Given the description of an element on the screen output the (x, y) to click on. 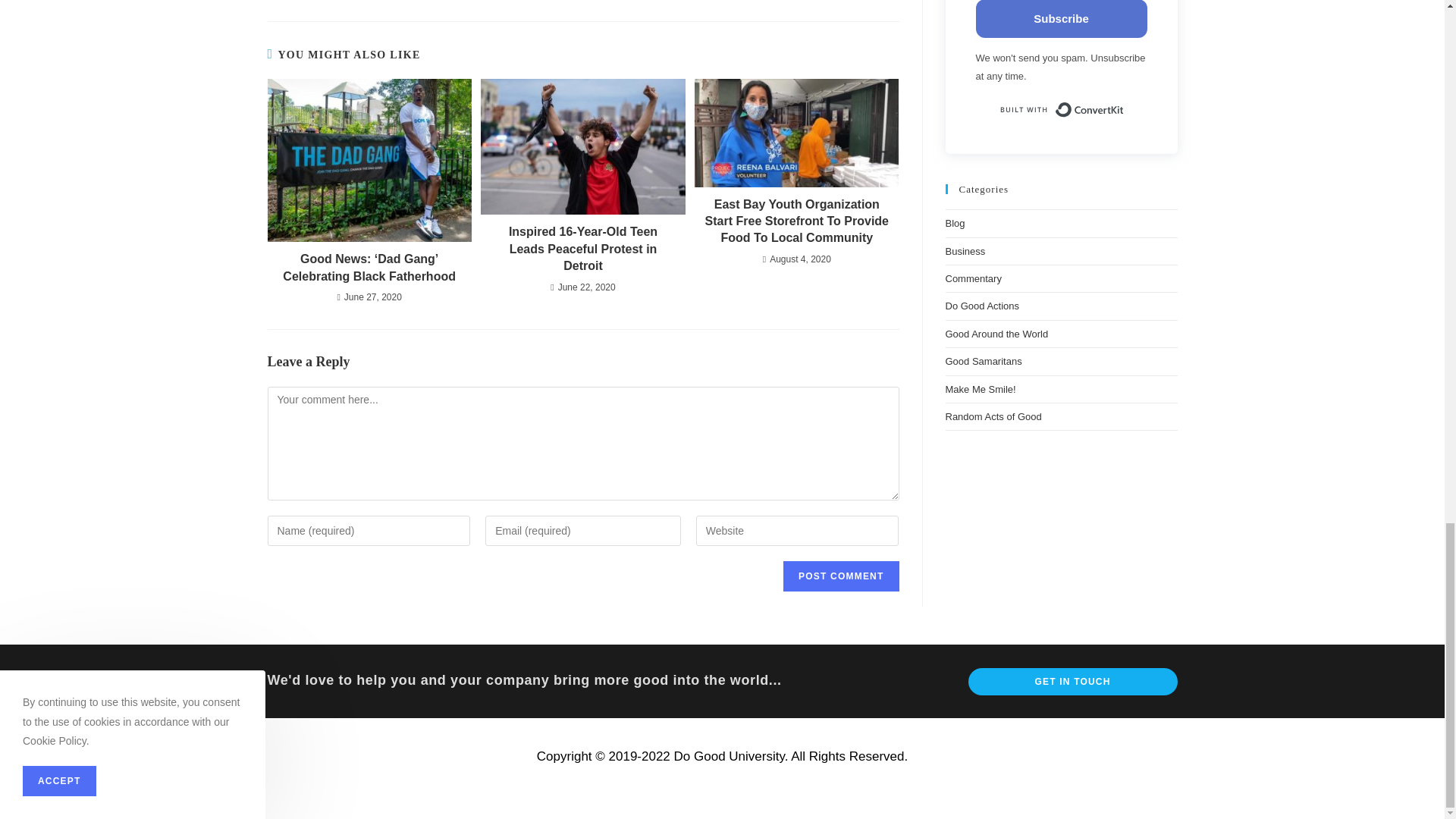
Post Comment (840, 576)
Inspired 16-Year-Old Teen Leads Peaceful Protest in Detroit (582, 248)
Post Comment (840, 576)
